Given the description of an element on the screen output the (x, y) to click on. 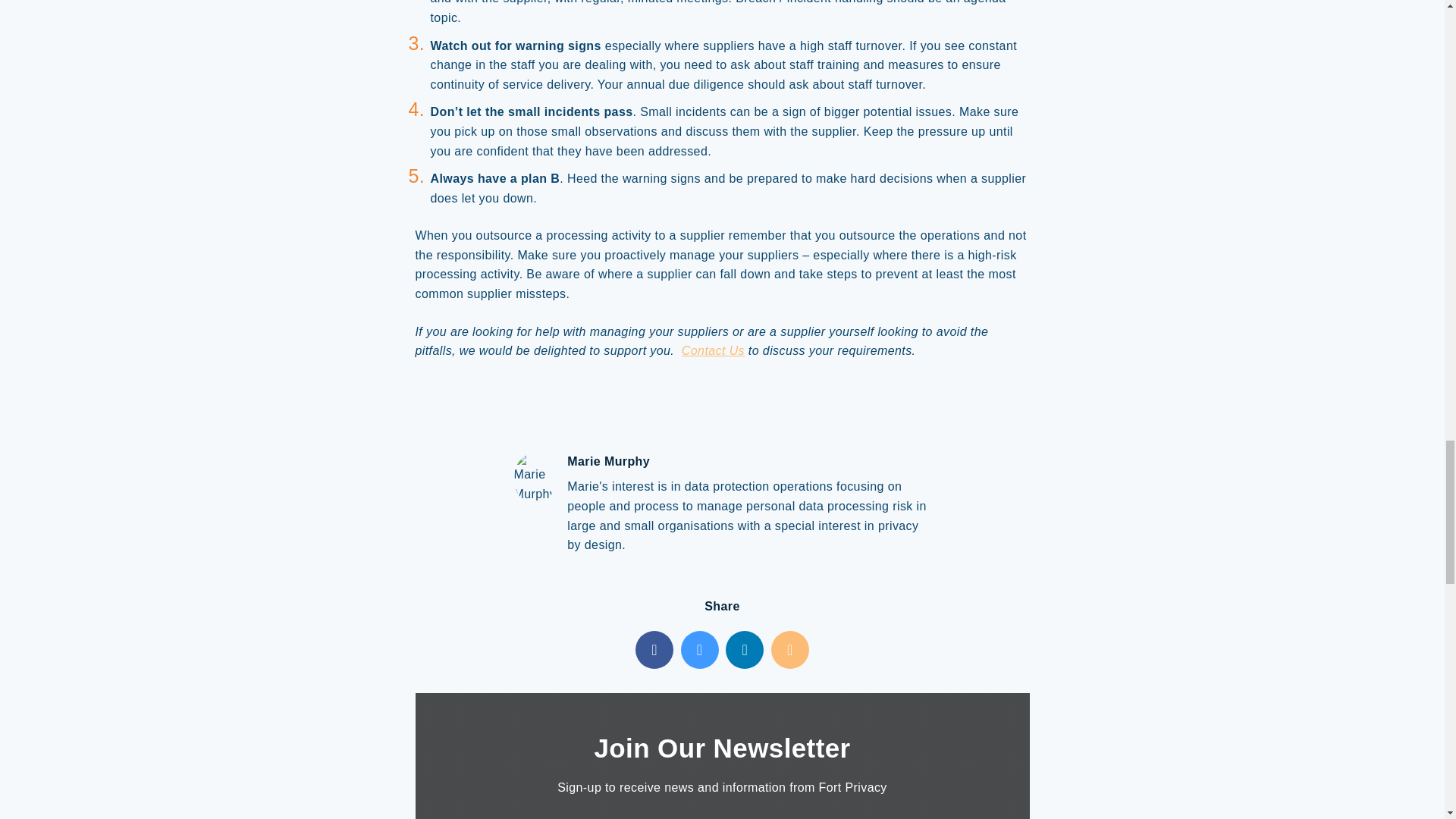
Twitter (700, 649)
Facebook (653, 649)
Email (790, 649)
Contact Us (712, 350)
Contact (712, 350)
Linked In (743, 649)
